Given the description of an element on the screen output the (x, y) to click on. 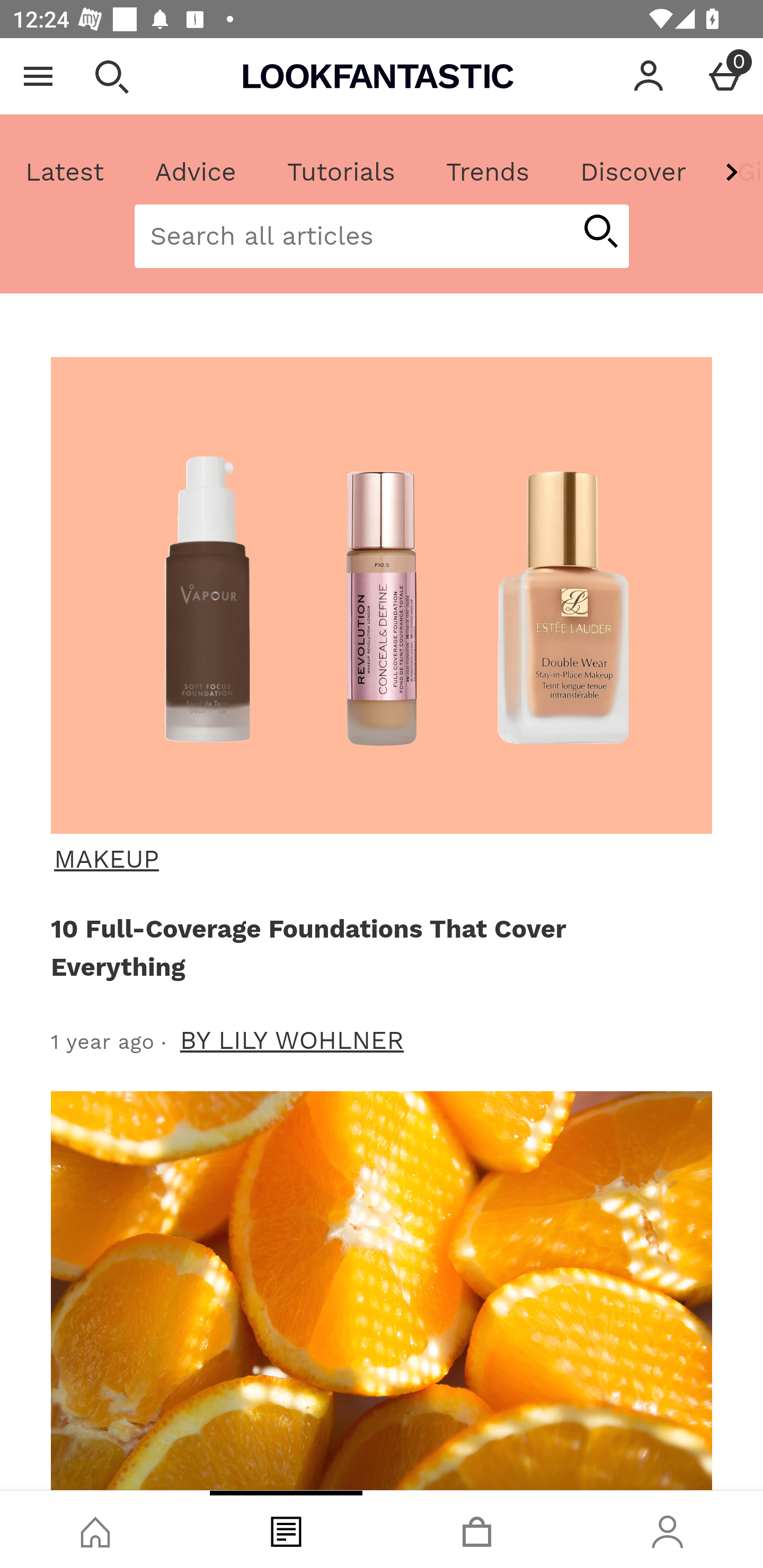
Open Menu (38, 75)
Open search (111, 75)
Account (648, 75)
Basket Menu (724, 75)
Latest (65, 172)
Advice (195, 172)
Tutorials (340, 172)
Trends (486, 172)
Discover (632, 172)
Gift Guide (736, 172)
start article search (599, 232)
MAKEUP (379, 858)
10 Full-Coverage Foundations That Cover Everything (377, 947)
BY LILY WOHLNER (292, 1040)
Shop, tab, 1 of 4 (95, 1529)
Blog, tab, 2 of 4 (285, 1529)
Basket, tab, 3 of 4 (476, 1529)
Account, tab, 4 of 4 (667, 1529)
